Given the description of an element on the screen output the (x, y) to click on. 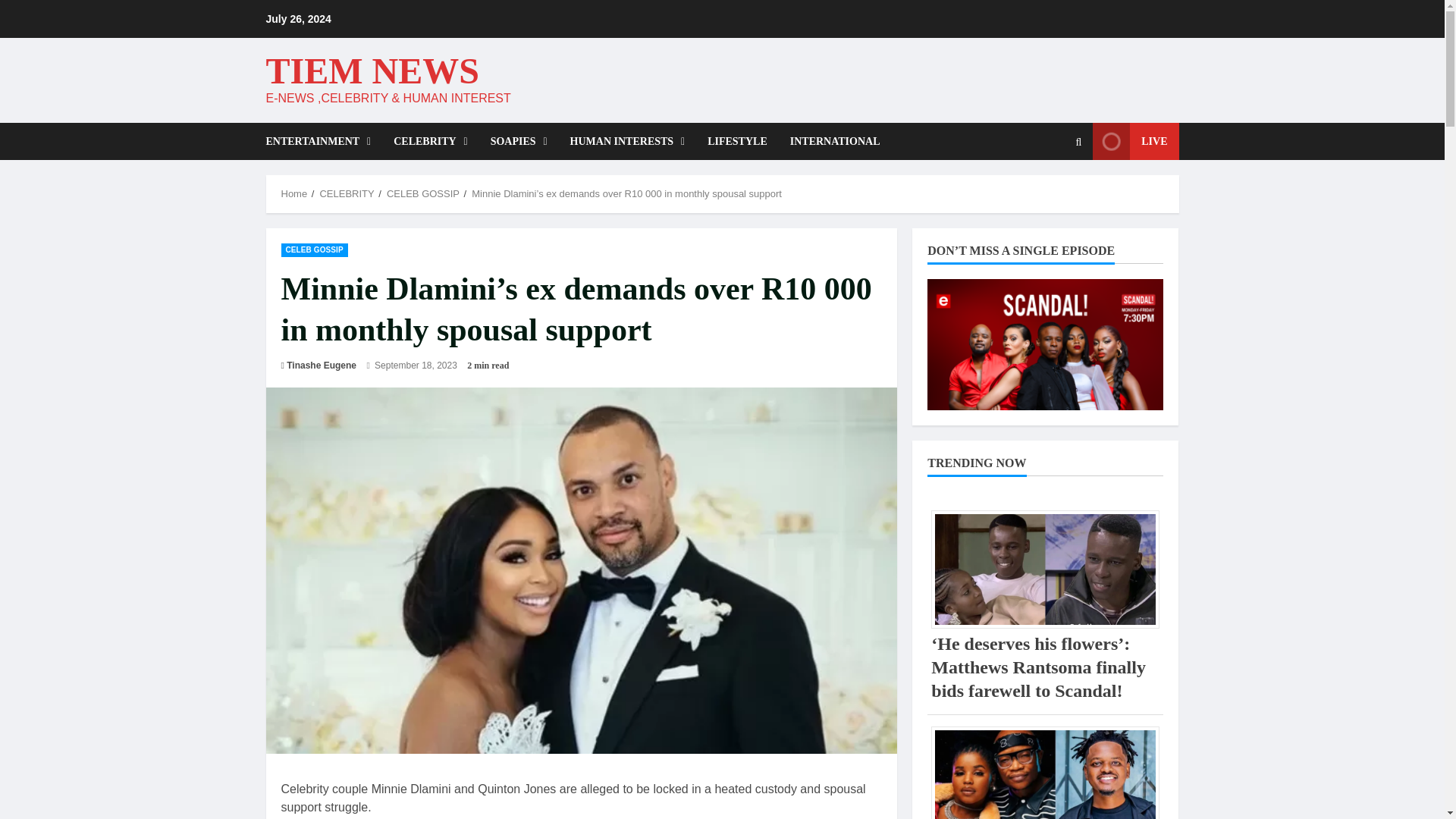
INTERNATIONAL (829, 140)
LIVE (1135, 140)
LIFESTYLE (736, 140)
CELEBRITY (346, 193)
Tinashe Eugene (321, 365)
Search (1042, 193)
ENTERTAINMENT (322, 140)
CELEB GOSSIP (314, 249)
Home (294, 193)
CELEBRITY (430, 140)
SOAPIES (519, 140)
CELEB GOSSIP (423, 193)
TIEM NEWS (371, 70)
HUMAN INTERESTS (628, 140)
